Given the description of an element on the screen output the (x, y) to click on. 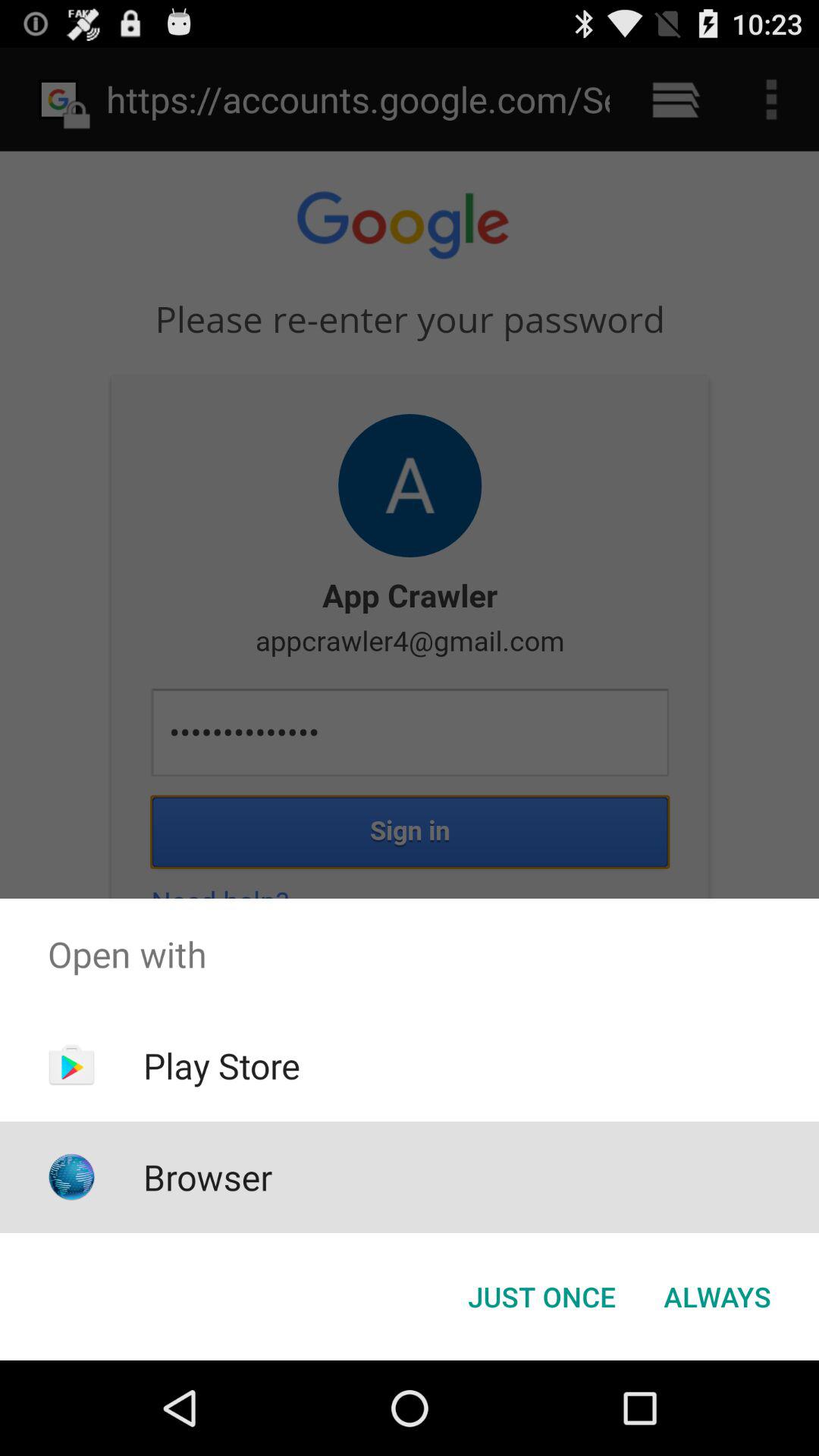
swipe to browser icon (207, 1176)
